Given the description of an element on the screen output the (x, y) to click on. 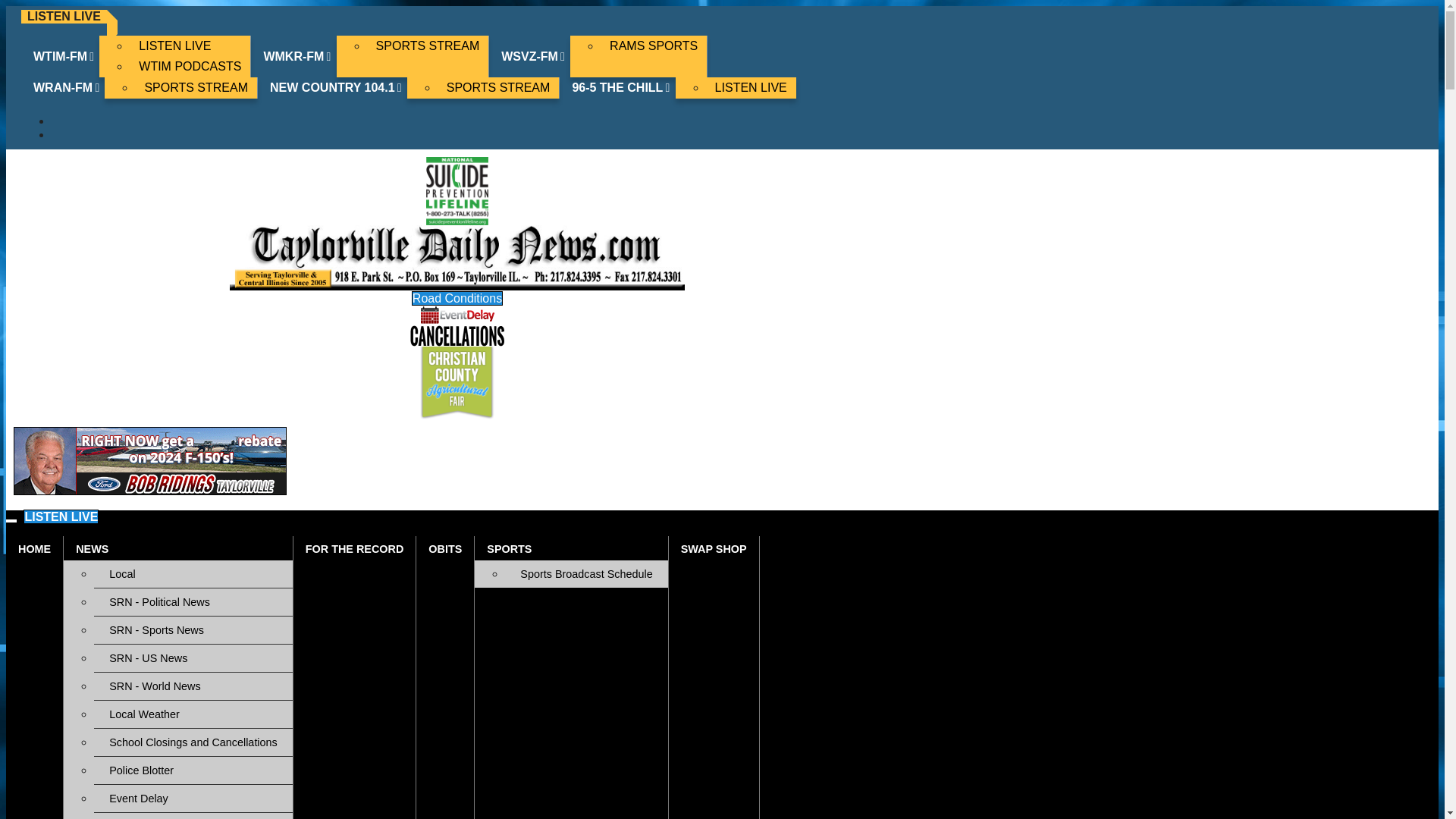
RAMS SPORTS (652, 46)
LISTEN LIVE (61, 516)
Local (193, 574)
School Closings and Cancellations (193, 741)
SRN - World News (193, 686)
WSVZ-FM (533, 56)
FOR THE RECORD (355, 548)
WTIM-FM (64, 56)
SPORTS STREAM (498, 87)
Road Conditions (457, 298)
SRN - US News (193, 657)
SPORTS STREAM (196, 87)
SPORTS STREAM (427, 46)
LISTEN LIVE (751, 87)
WMKR-FM (298, 56)
